Given the description of an element on the screen output the (x, y) to click on. 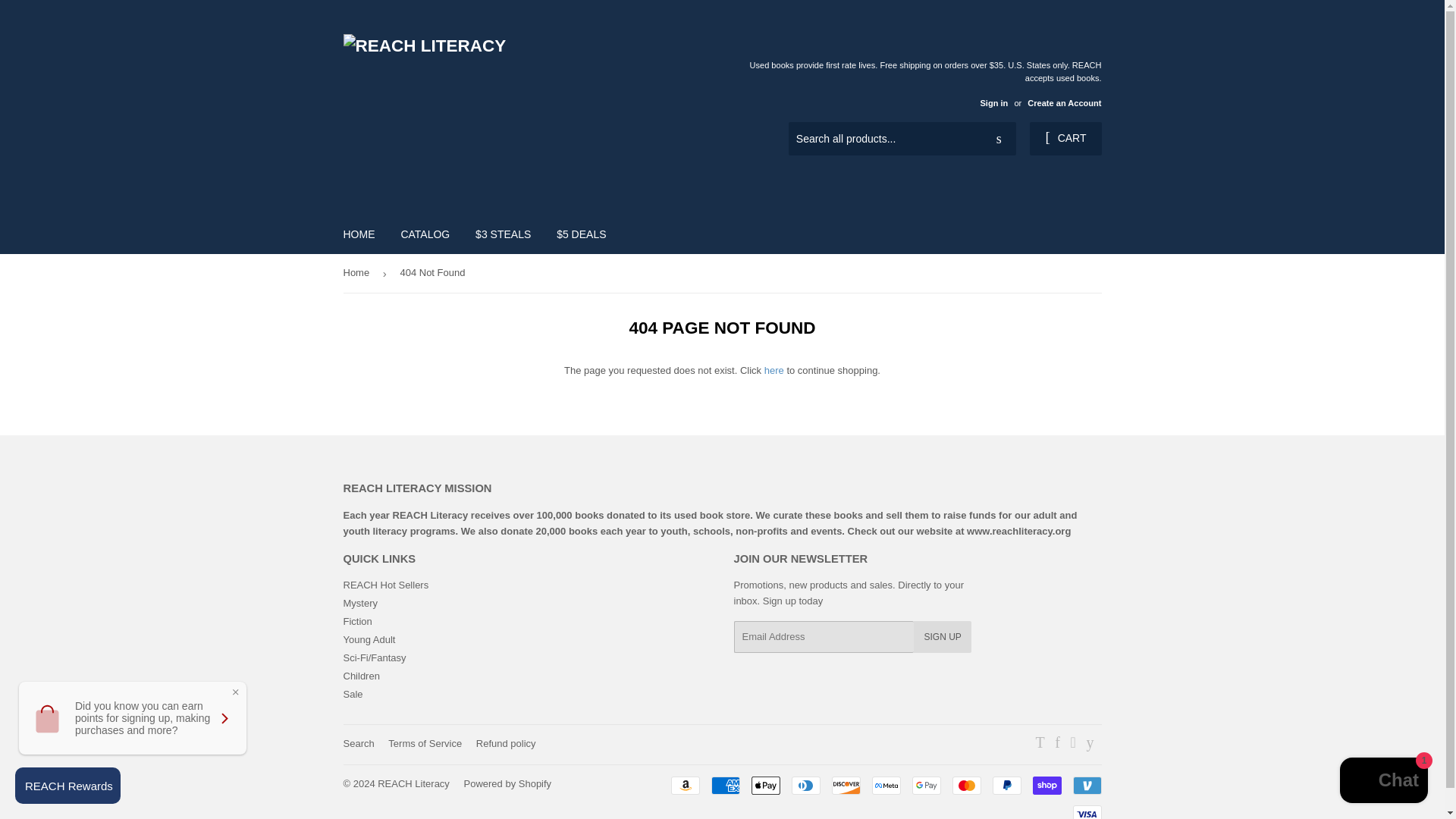
Shop Pay (1046, 785)
Young Adult (368, 639)
Amazon (683, 785)
Venmo (1085, 785)
CART (1064, 138)
Search (998, 139)
Visa (1085, 812)
Sign in (993, 102)
REACH Literacy (413, 783)
Mastercard (966, 785)
HOME (359, 233)
PayPal (1005, 785)
Meta Pay (886, 785)
CATALOG (424, 233)
Terms of Service (424, 743)
